Given the description of an element on the screen output the (x, y) to click on. 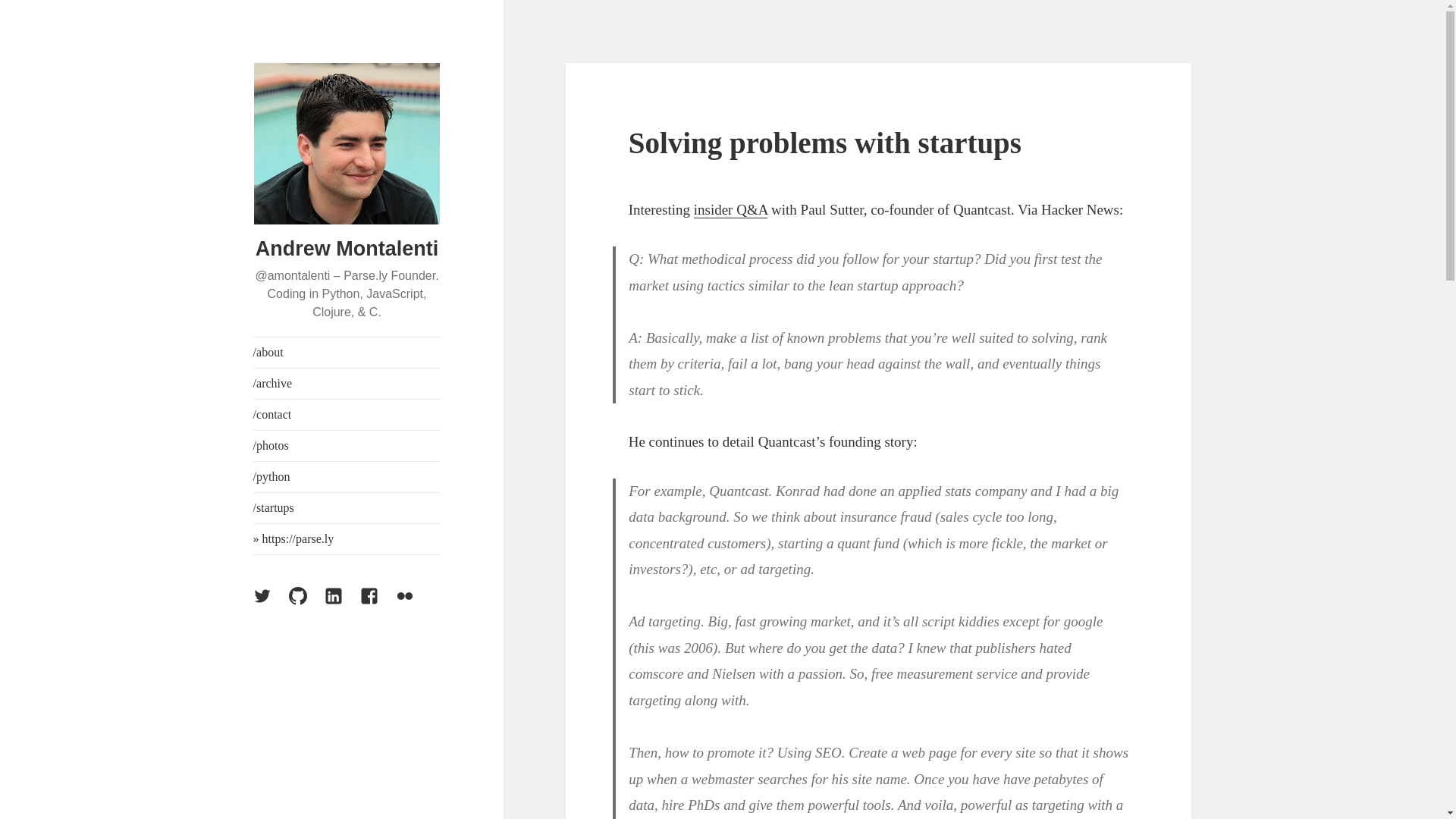
Andrew Montalenti (347, 248)
On Github (306, 605)
On Facebook (377, 605)
On Flickr (414, 605)
On LinkedIn (342, 605)
On Twitter (271, 605)
